Given the description of an element on the screen output the (x, y) to click on. 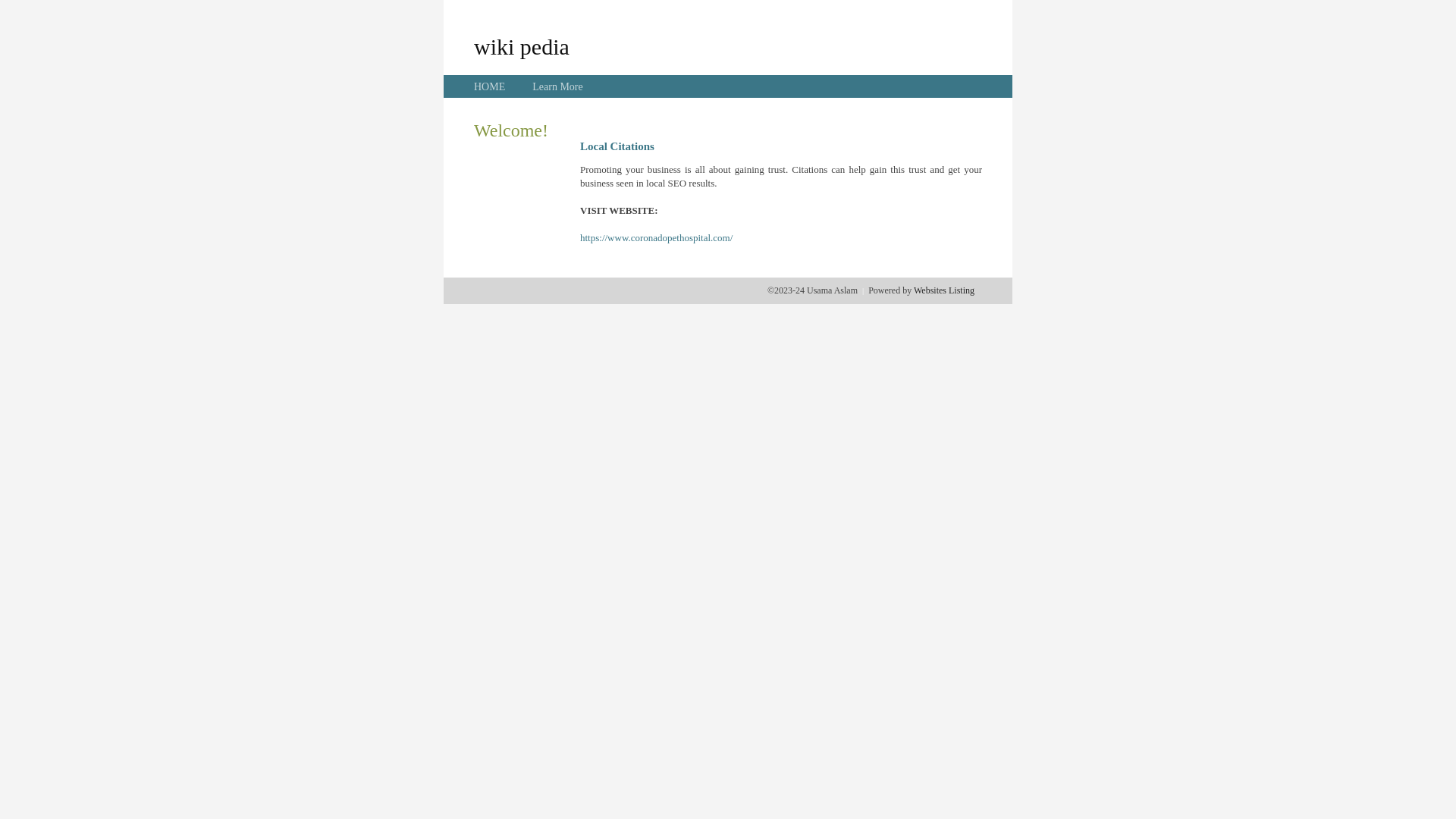
HOME Element type: text (489, 86)
Learn More Element type: text (557, 86)
wiki pedia Element type: text (521, 46)
Websites Listing Element type: text (943, 290)
https://www.coronadopethospital.com/ Element type: text (656, 237)
